Given the description of an element on the screen output the (x, y) to click on. 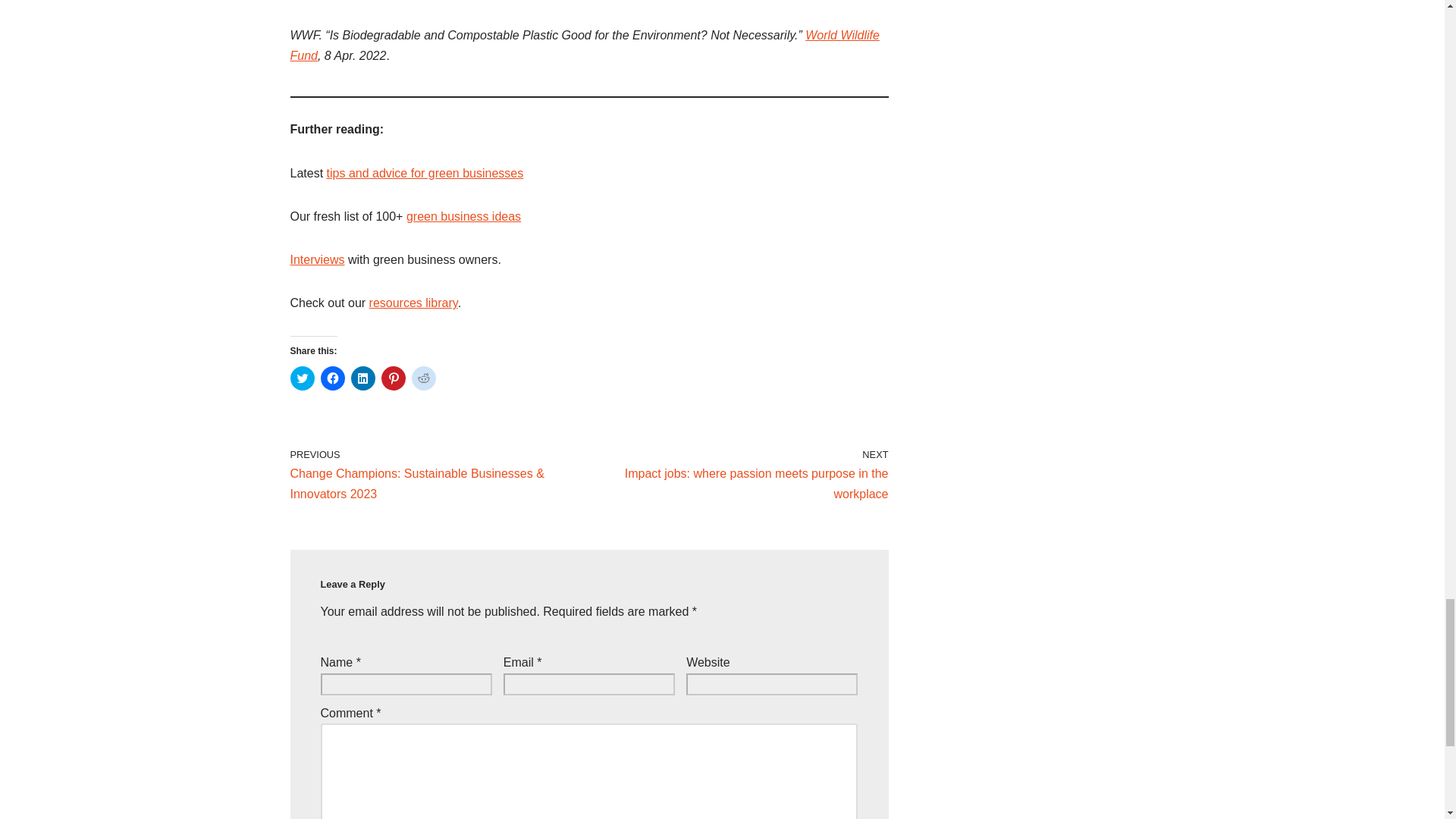
Click to share on Pinterest (392, 378)
Interviews (316, 259)
World Wildlife Fund (584, 45)
resources library (413, 302)
Click to share on Twitter (301, 378)
Click to share on LinkedIn (362, 378)
tips and advice for green businesses (425, 173)
Click to share on Facebook (331, 378)
green business ideas (463, 215)
Click to share on Reddit (422, 378)
